Given the description of an element on the screen output the (x, y) to click on. 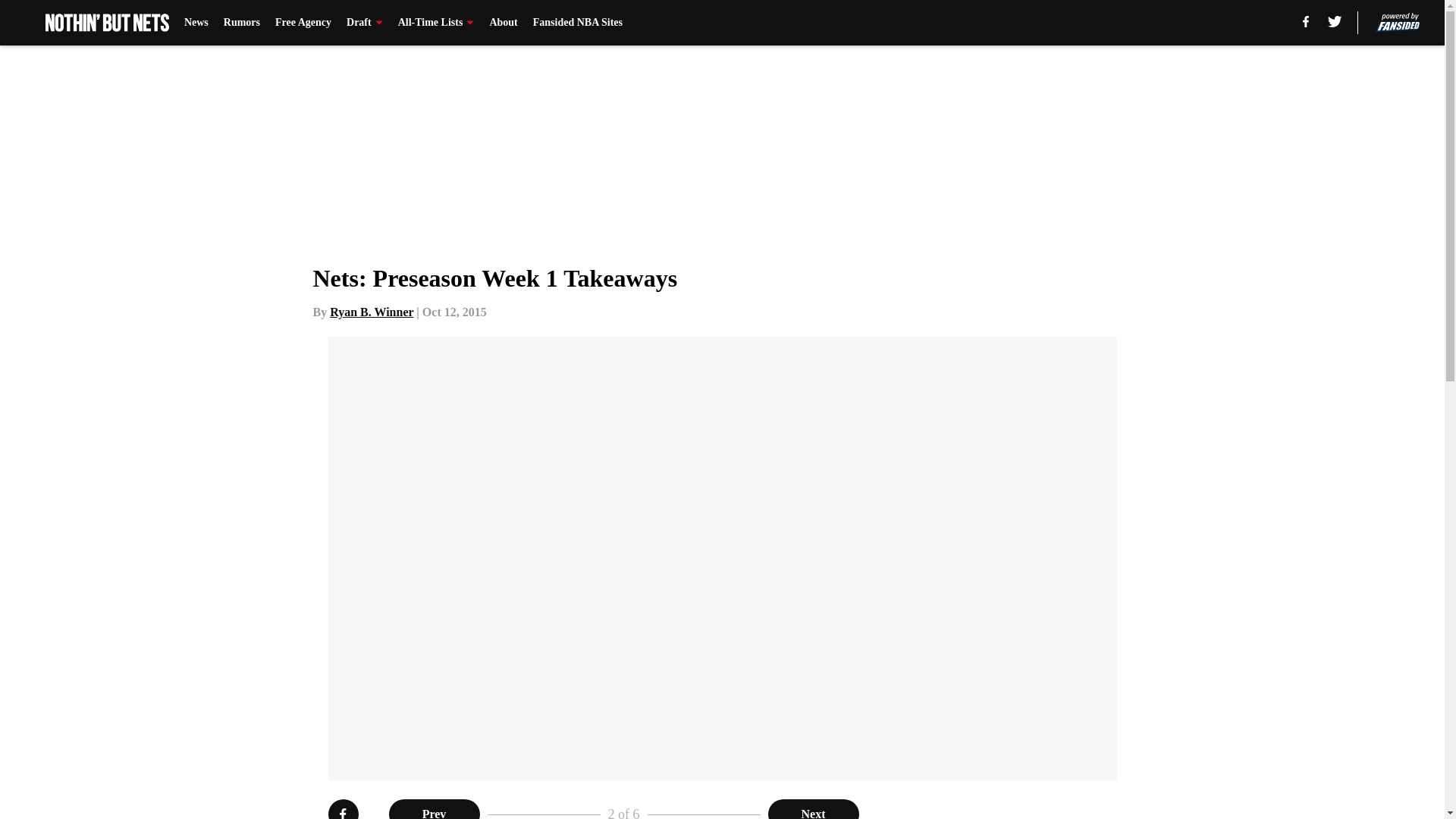
About (502, 22)
Prev (433, 809)
Free Agency (303, 22)
News (196, 22)
Rumors (242, 22)
Ryan B. Winner (371, 311)
Next (813, 809)
Fansided NBA Sites (577, 22)
